Given the description of an element on the screen output the (x, y) to click on. 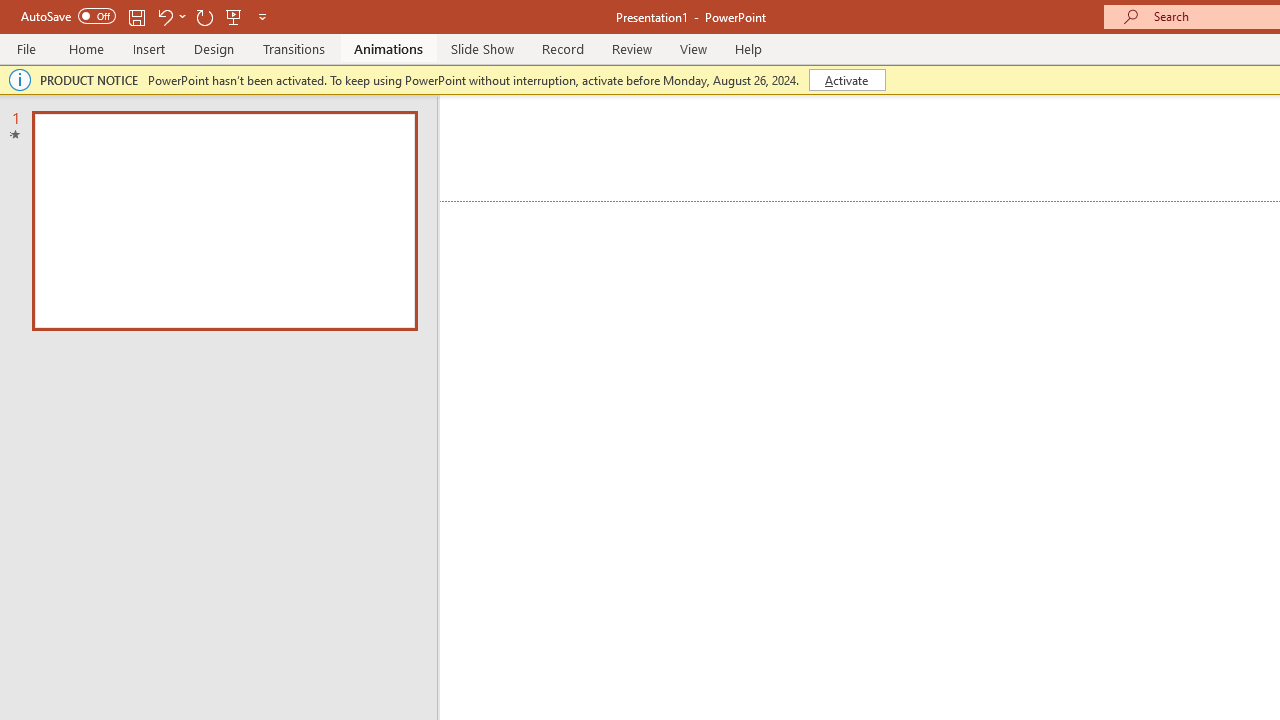
Shading (993, 180)
Bold (172, 180)
Enclose Characters... (656, 180)
Justify (834, 180)
Clear Formatting (578, 137)
Character Border (656, 137)
Change Case (524, 137)
Italic (212, 180)
Copy (112, 161)
